Given the description of an element on the screen output the (x, y) to click on. 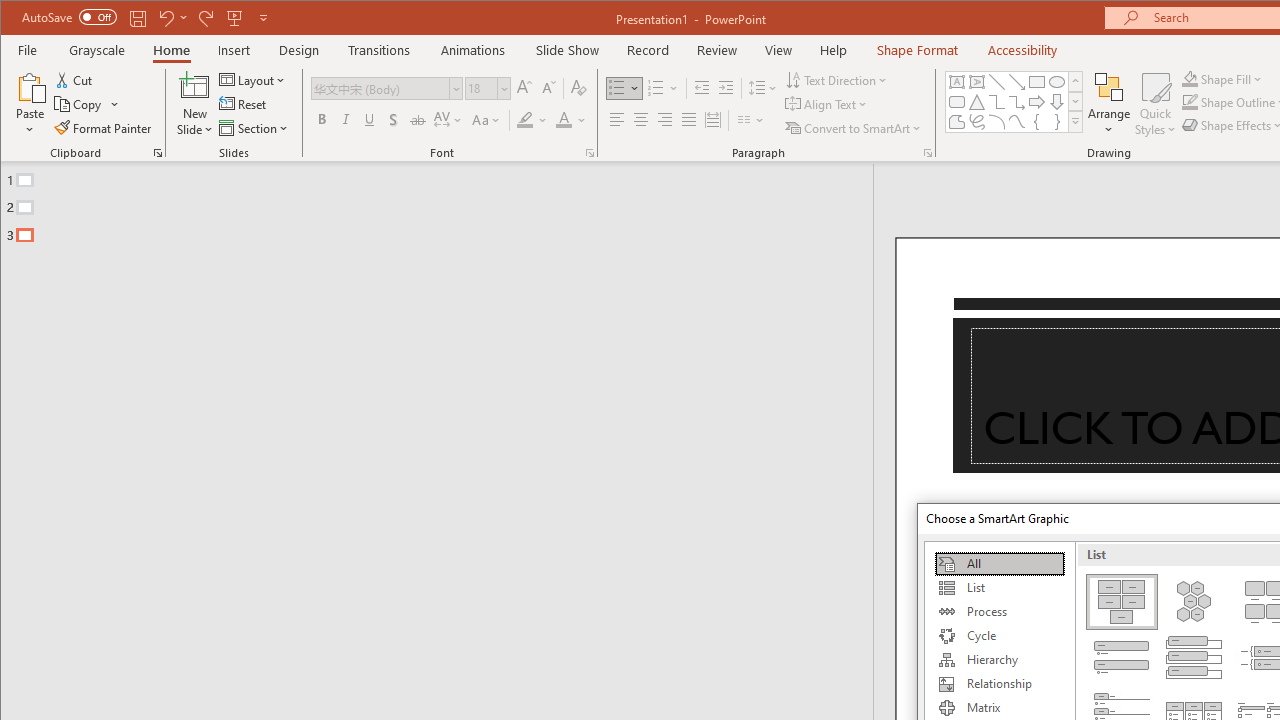
Relationship (999, 683)
Hierarchy (999, 659)
